Given the description of an element on the screen output the (x, y) to click on. 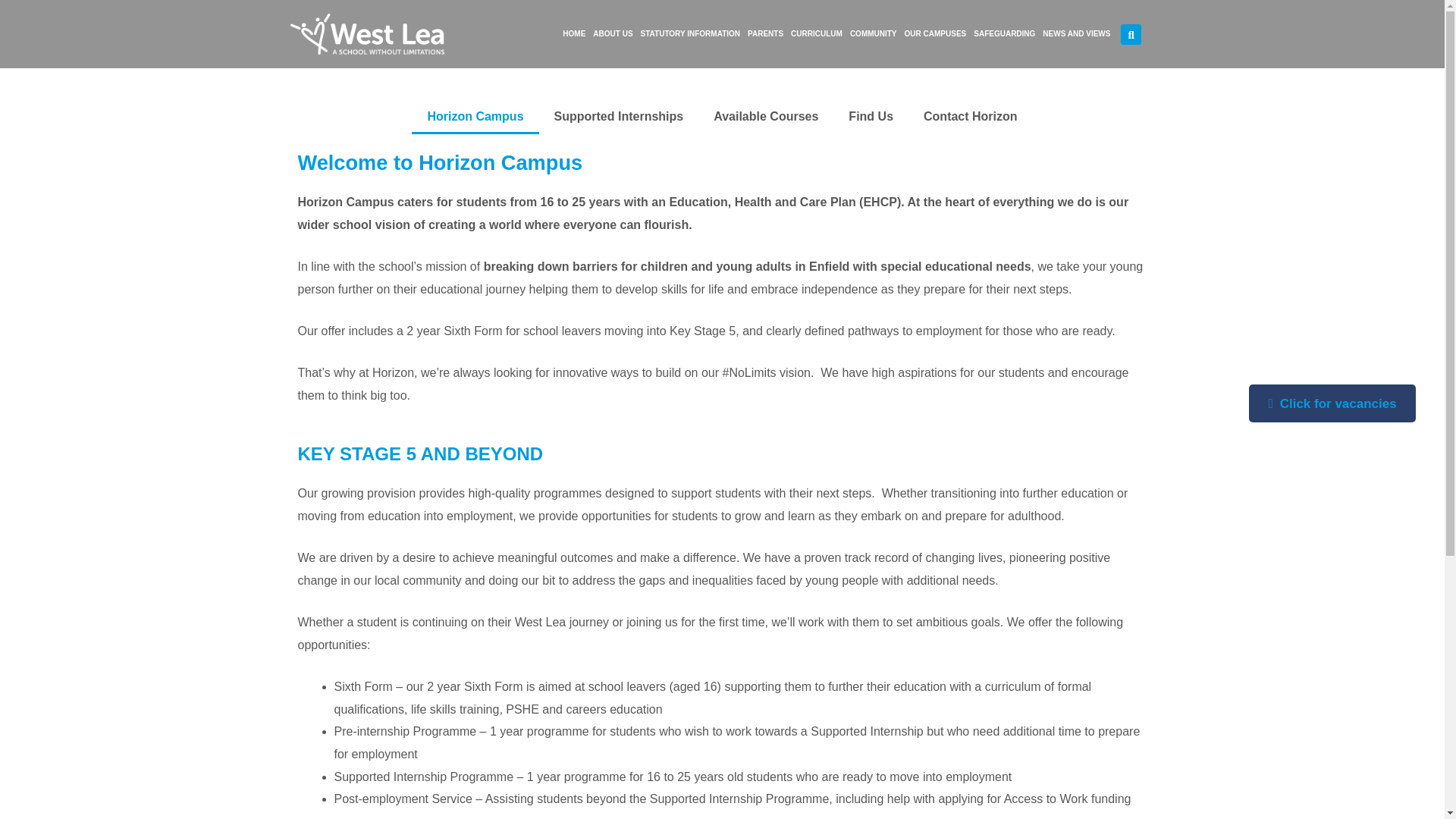
NEWS AND VIEWS (1076, 33)
STATUTORY INFORMATION (690, 33)
OUR CAMPUSES (936, 33)
SAFEGUARDING (1004, 33)
PARENTS (765, 33)
CURRICULUM (816, 33)
ABOUT US (612, 33)
HOME (574, 33)
COMMUNITY (873, 33)
